Given the description of an element on the screen output the (x, y) to click on. 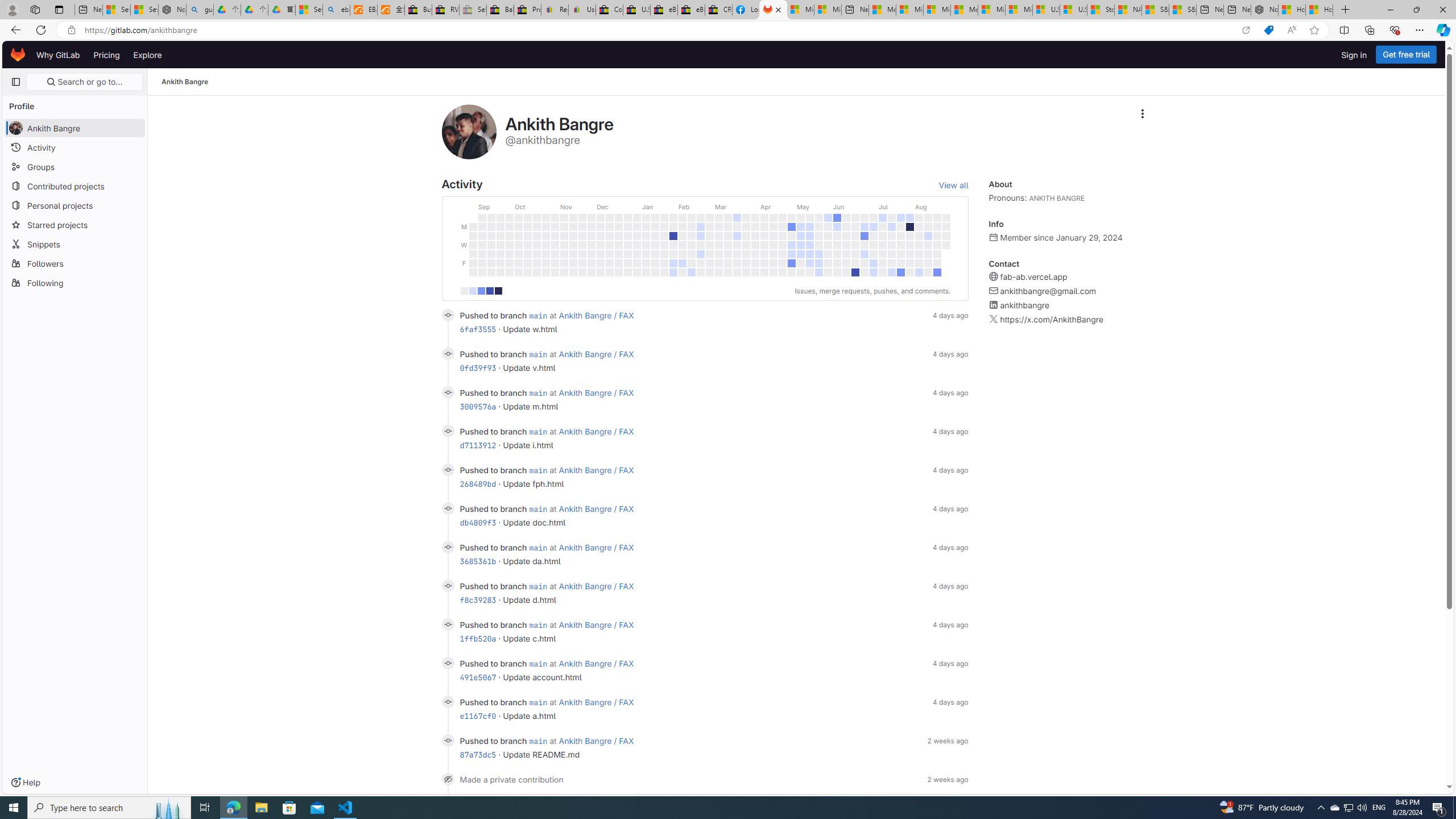
avatar Ankith Bangre (74, 127)
Class: s16 gl-fill-icon-subtle gl-mt-1 flex-shrink-0 (993, 319)
Pricing (106, 54)
